Given the description of an element on the screen output the (x, y) to click on. 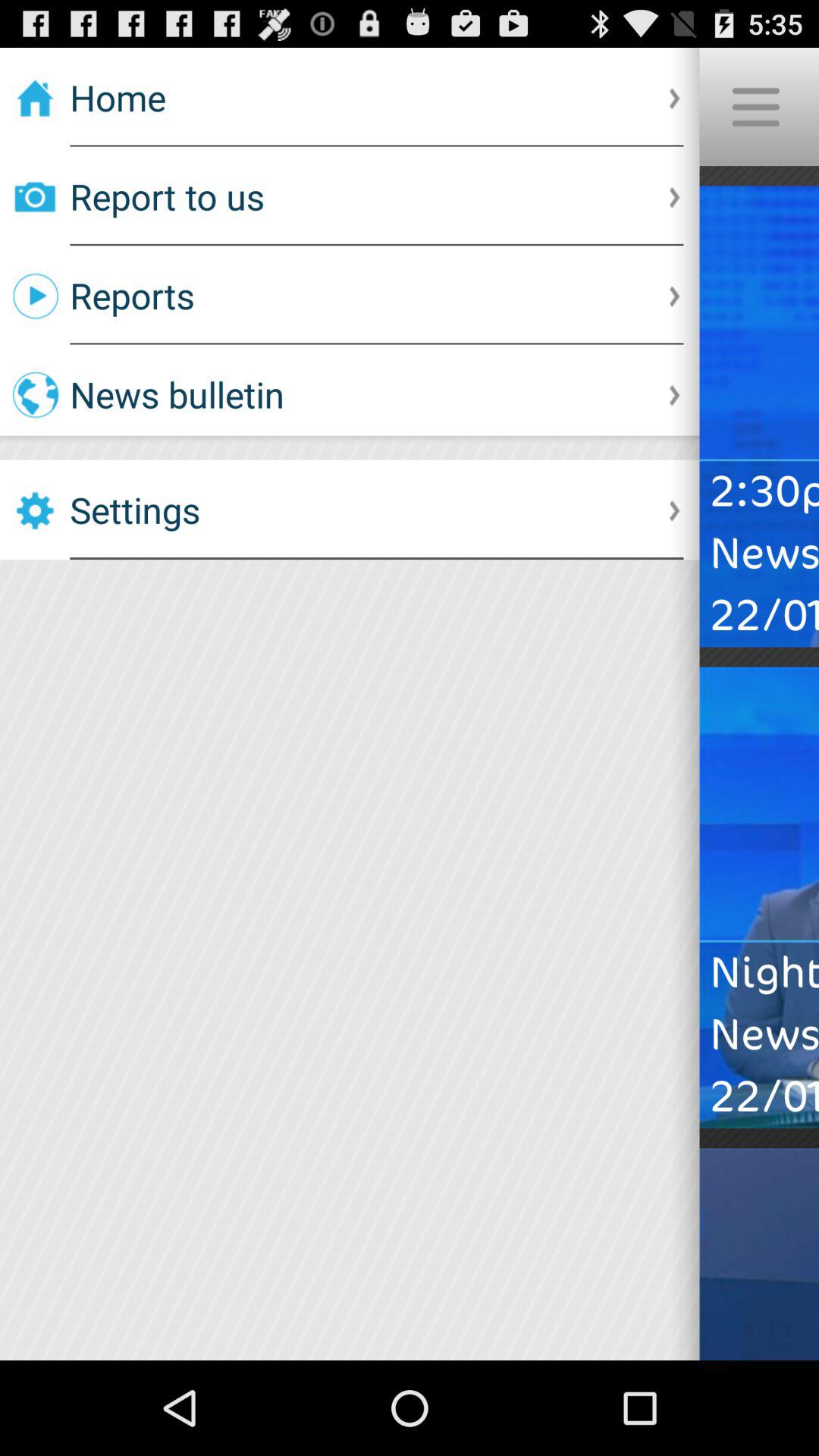
select the right arrow which is to the right side of reports option (675, 295)
